Given the description of an element on the screen output the (x, y) to click on. 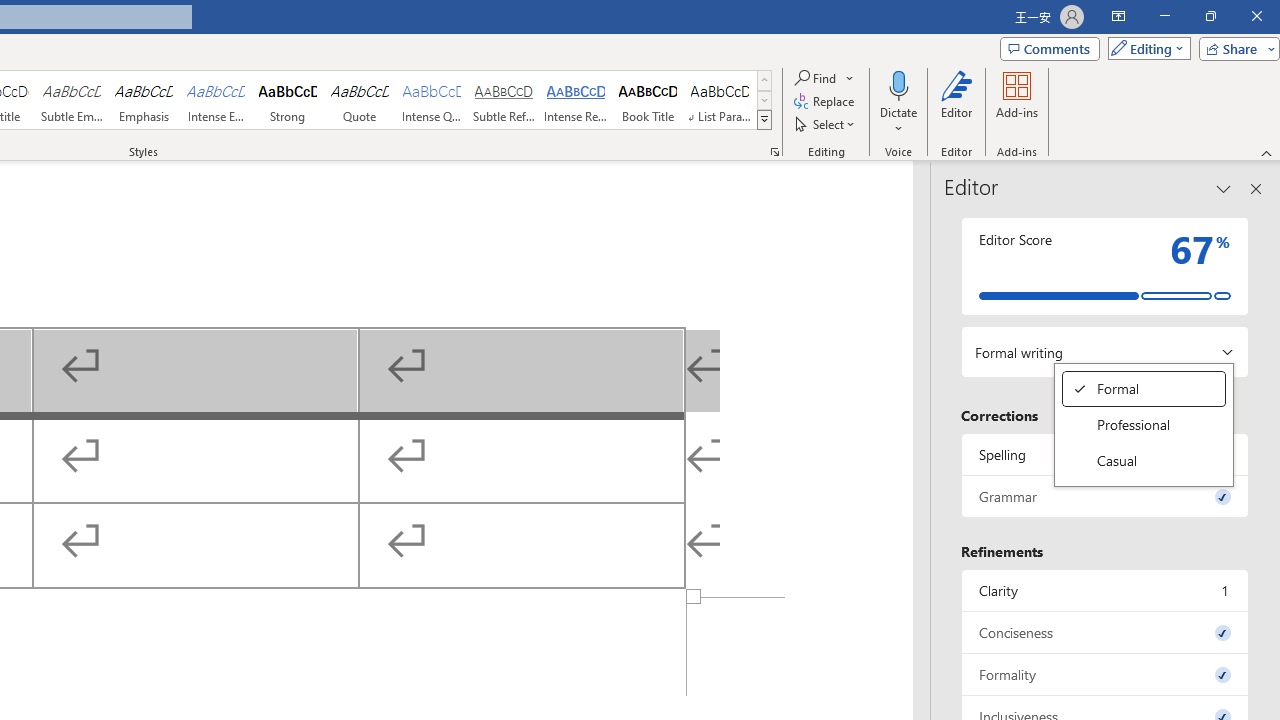
Intense Quote (1144, 460)
Strong (431, 100)
Subtle Reference (287, 100)
Emphasis (504, 100)
Clarity, 1 issue. Press space or enter to review items. (143, 100)
Class: Net UI Tool Window (1105, 590)
